Given the description of an element on the screen output the (x, y) to click on. 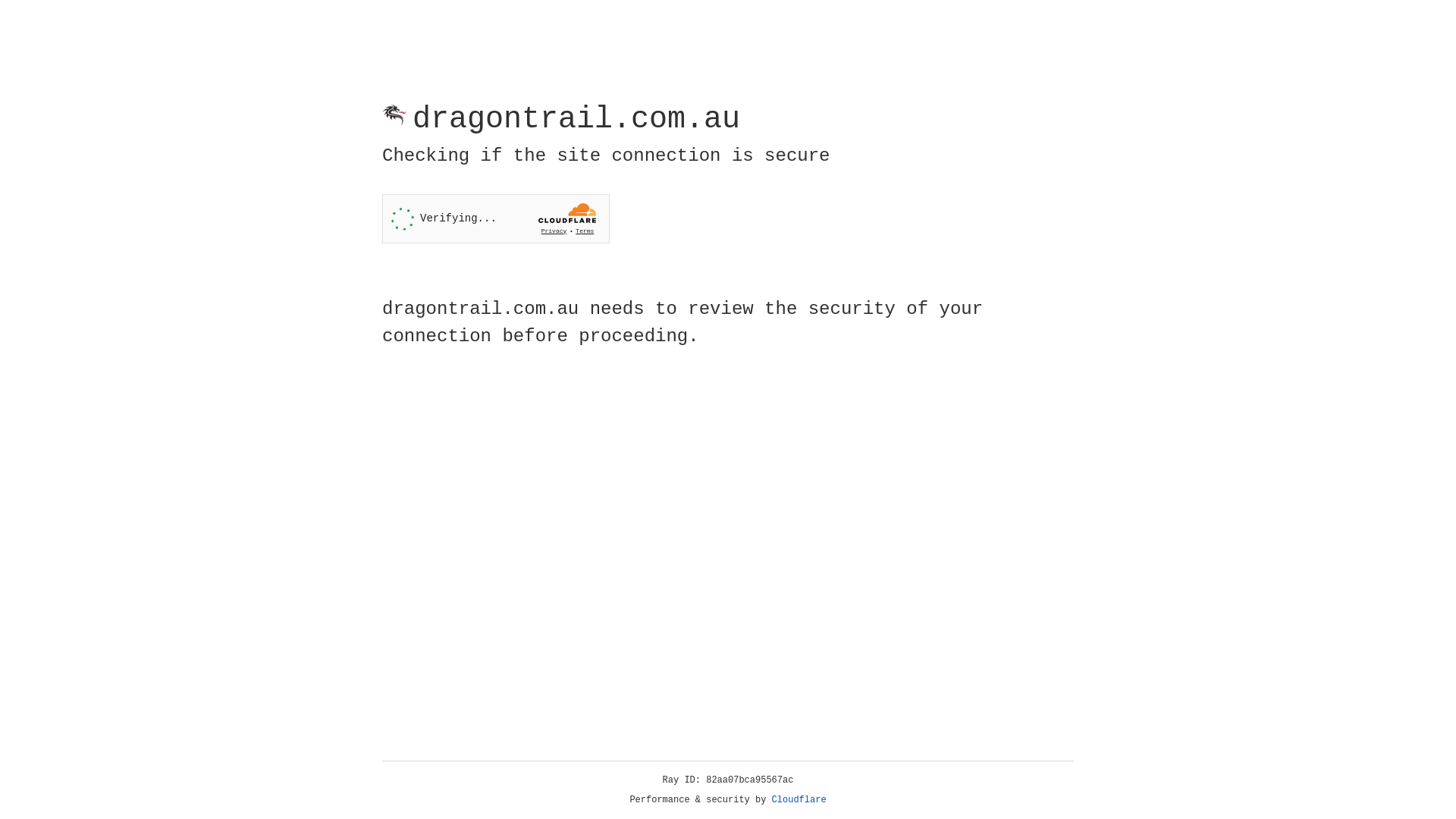
Cloudflare Element type: text (798, 799)
Widget containing a Cloudflare security challenge Element type: hover (495, 218)
